Given the description of an element on the screen output the (x, y) to click on. 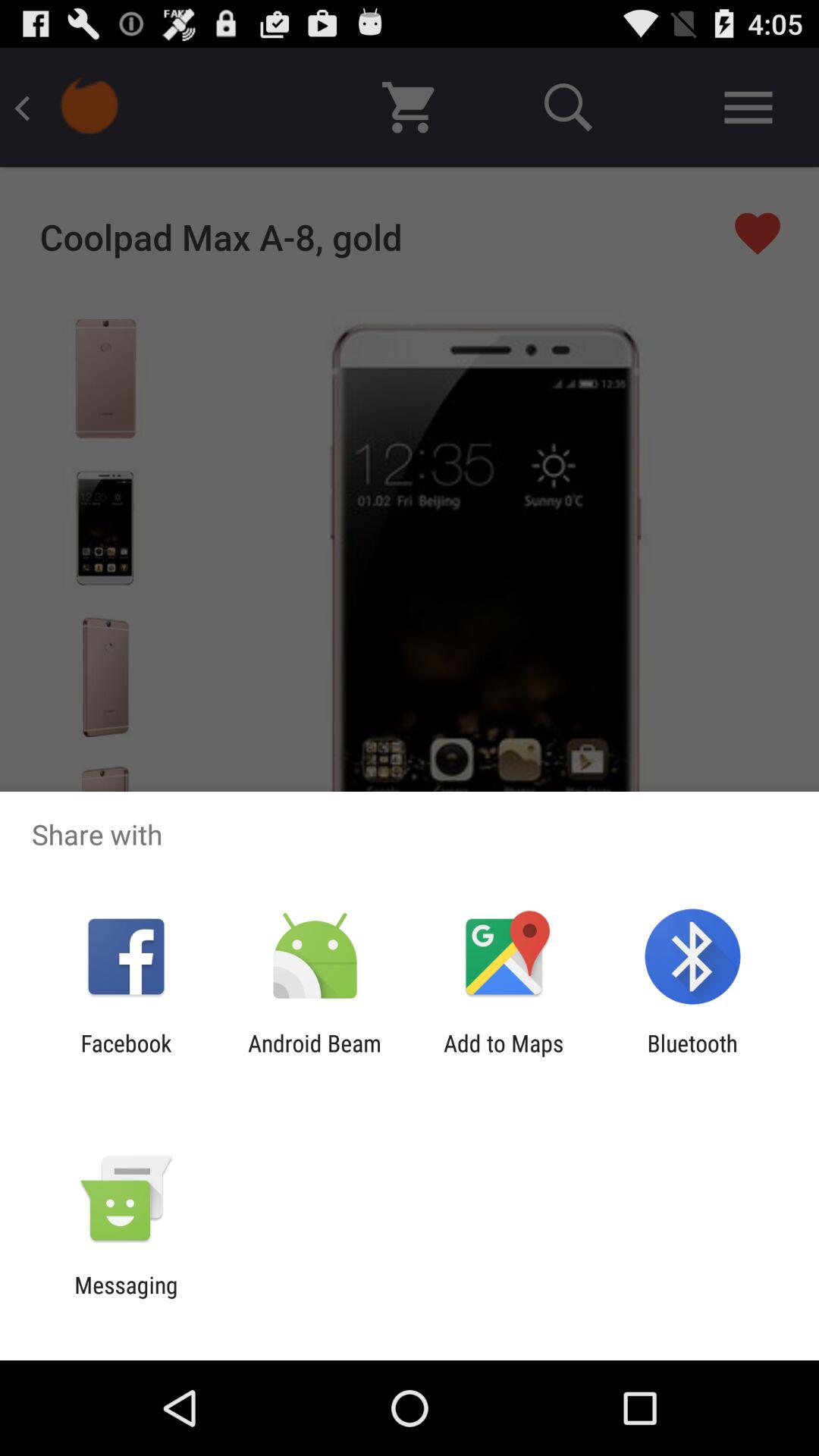
launch the icon next to the android beam icon (125, 1056)
